Given the description of an element on the screen output the (x, y) to click on. 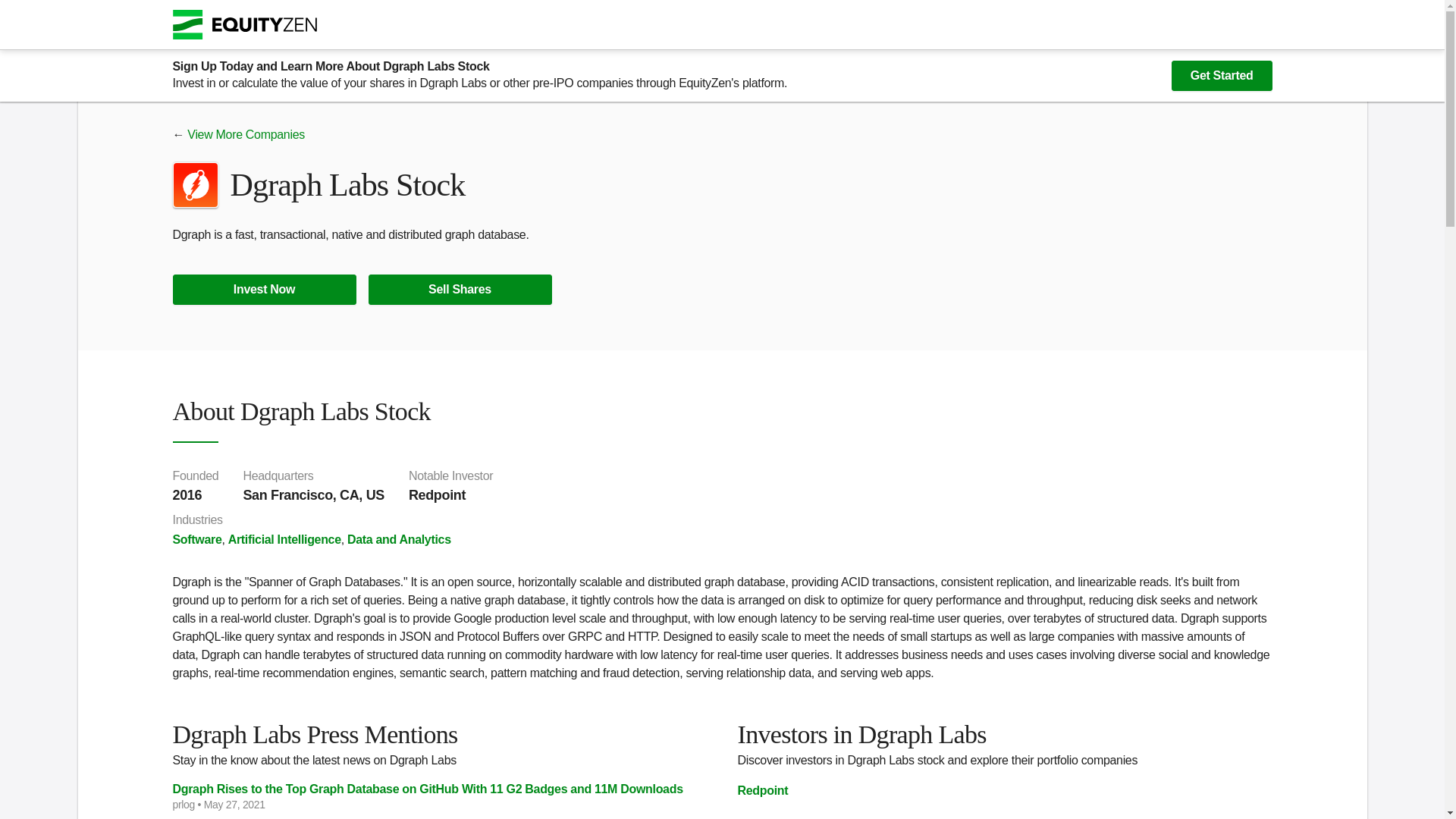
View More Companies (245, 133)
Sell Shares (459, 289)
Get Started (1222, 75)
Artificial Intelligence (284, 539)
Invest Now (264, 289)
Software (197, 539)
Data and Analytics (399, 539)
Redpoint (761, 789)
